Given the description of an element on the screen output the (x, y) to click on. 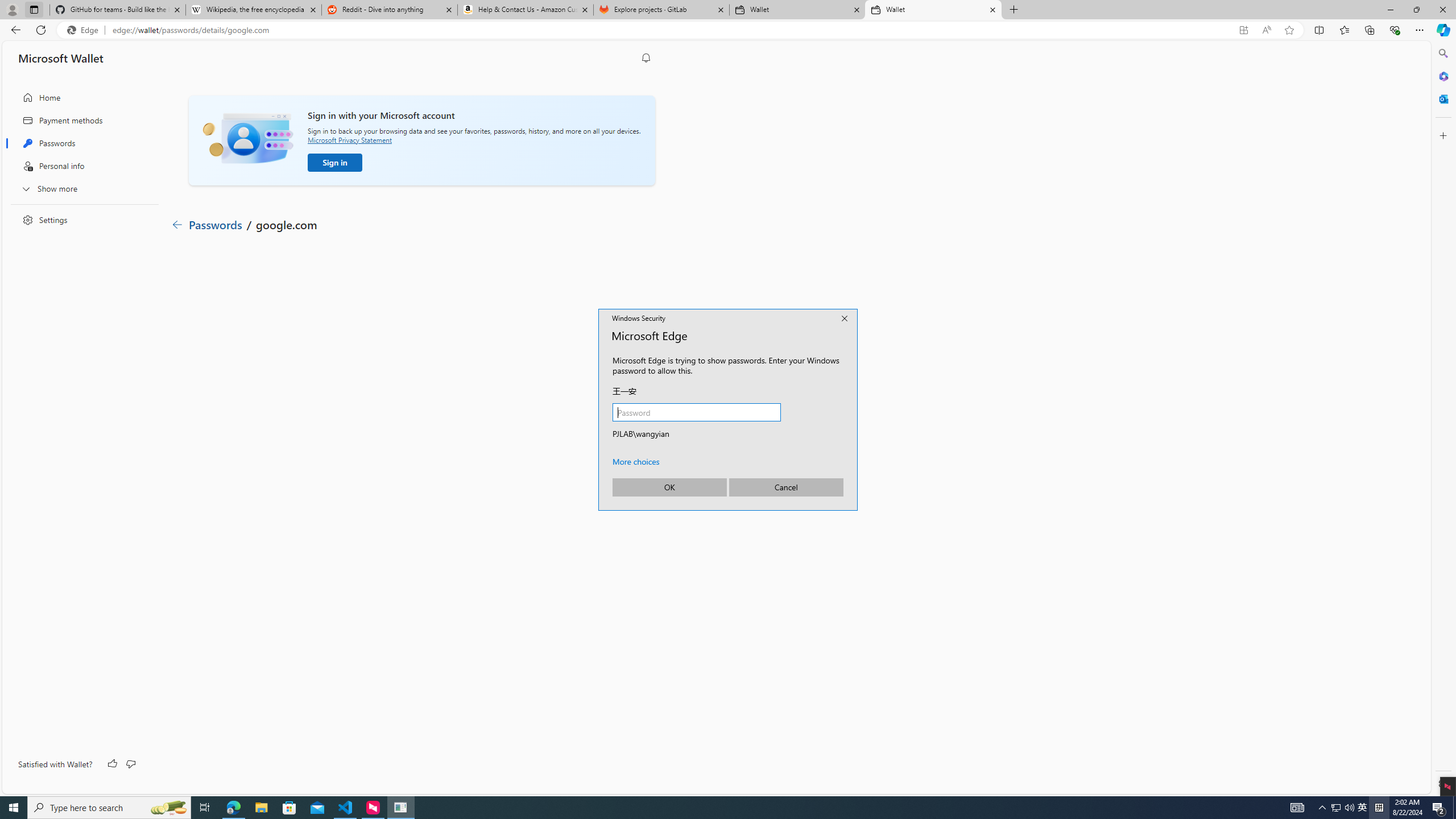
Help & Contact Us - Amazon Customer Service (525, 9)
More choices (635, 461)
Payment methods - 0 available (248, 326)
AutomationID: 4105 (1297, 807)
Show more (81, 188)
Copy password (548, 414)
File Explorer (261, 807)
